Given the description of an element on the screen output the (x, y) to click on. 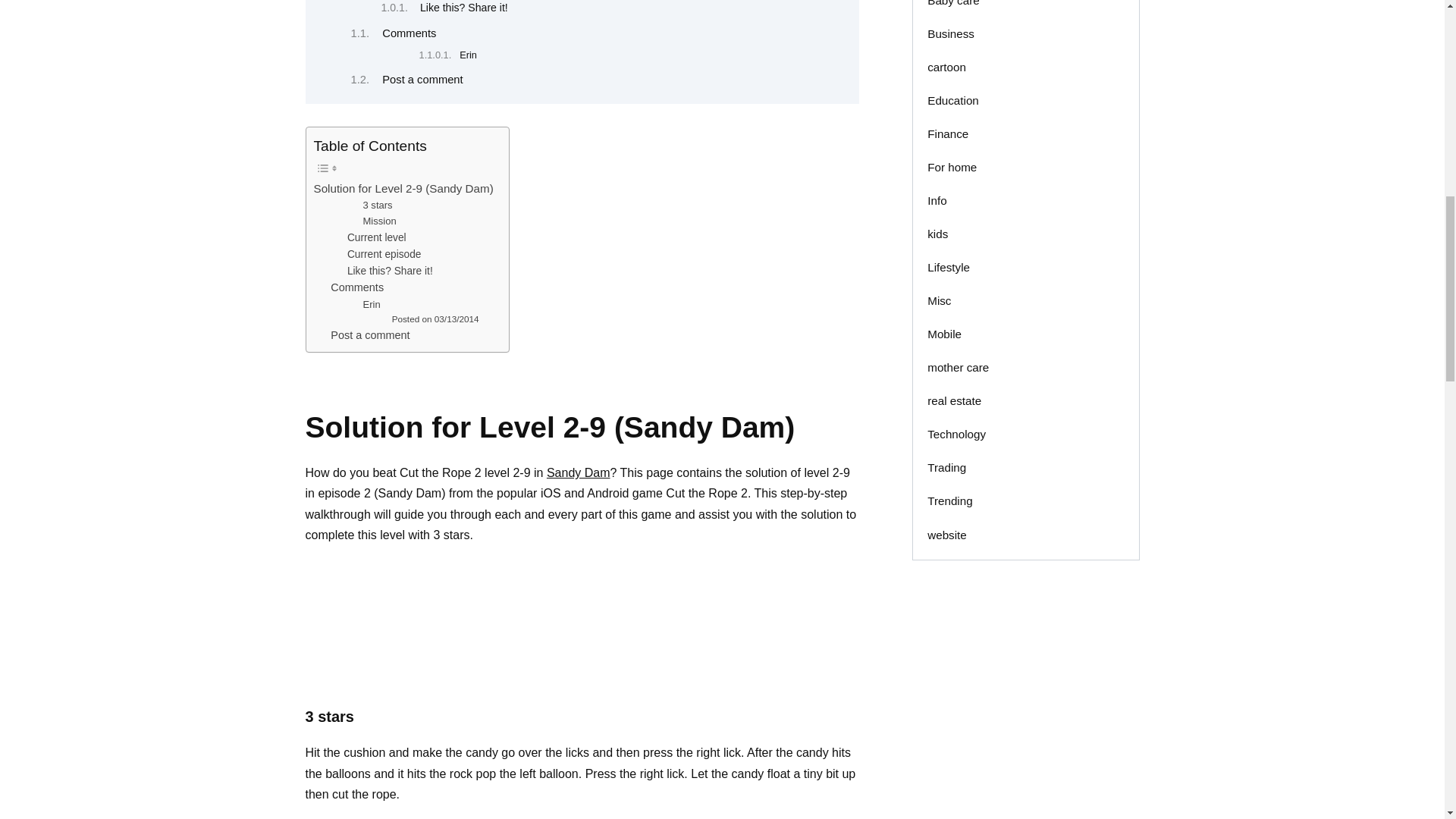
Post a comment (369, 334)
Like this? Share it! (464, 7)
Comments (408, 33)
Current level (376, 238)
Erin (468, 54)
Erin (371, 304)
Comments (357, 287)
Like this? Share it! (389, 270)
Mission (379, 221)
3 stars (377, 205)
Current episode (384, 254)
